Given the description of an element on the screen output the (x, y) to click on. 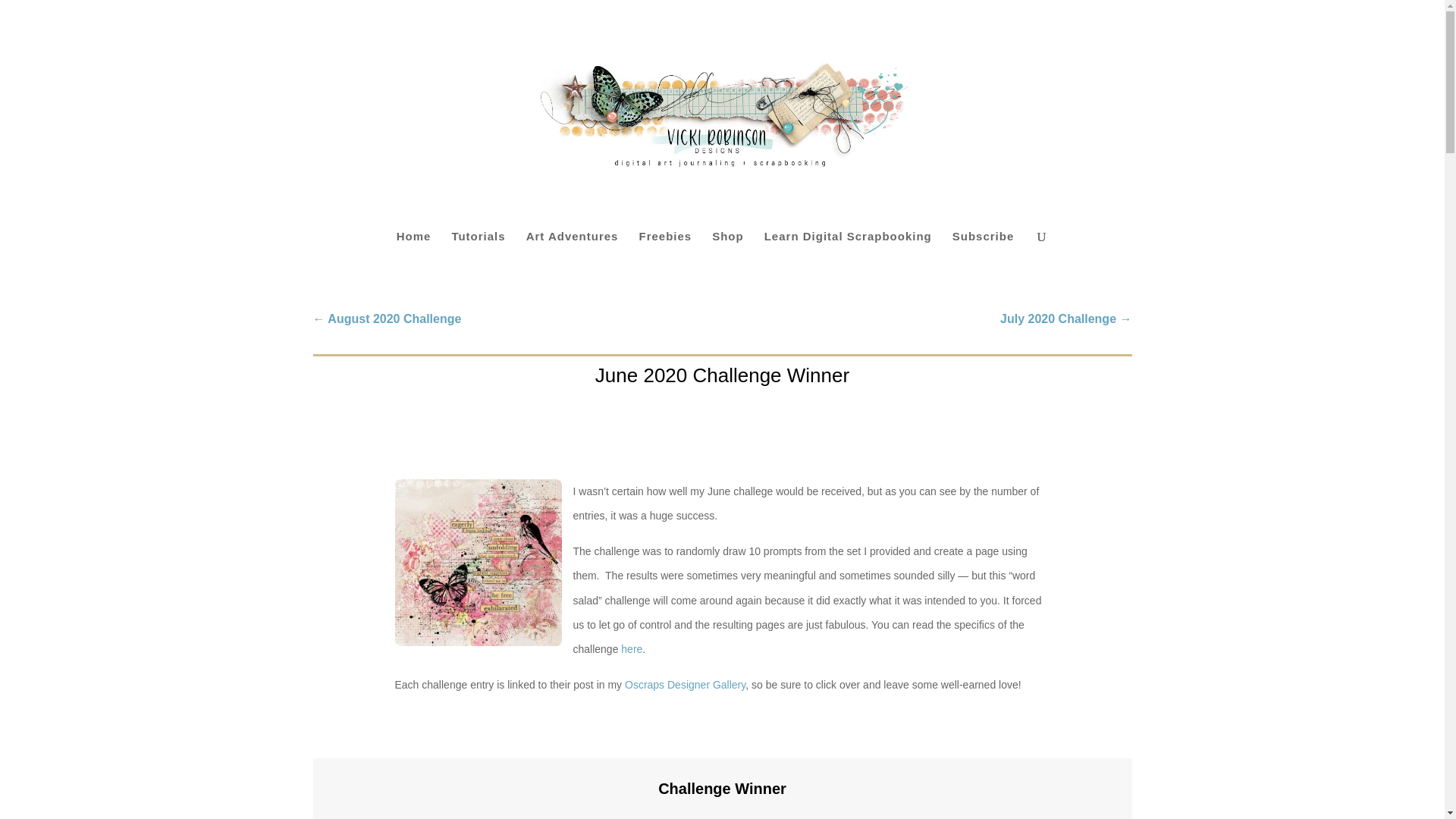
Freebies (665, 256)
July 2020 Challenge (1065, 319)
Oscraps Designer Gallery (684, 684)
here (631, 648)
Subscribe (983, 256)
Learn Digital Scrapbooking (847, 256)
August 2020 Challenge (387, 319)
Tutorials (478, 256)
Art Adventures (571, 256)
